Given the description of an element on the screen output the (x, y) to click on. 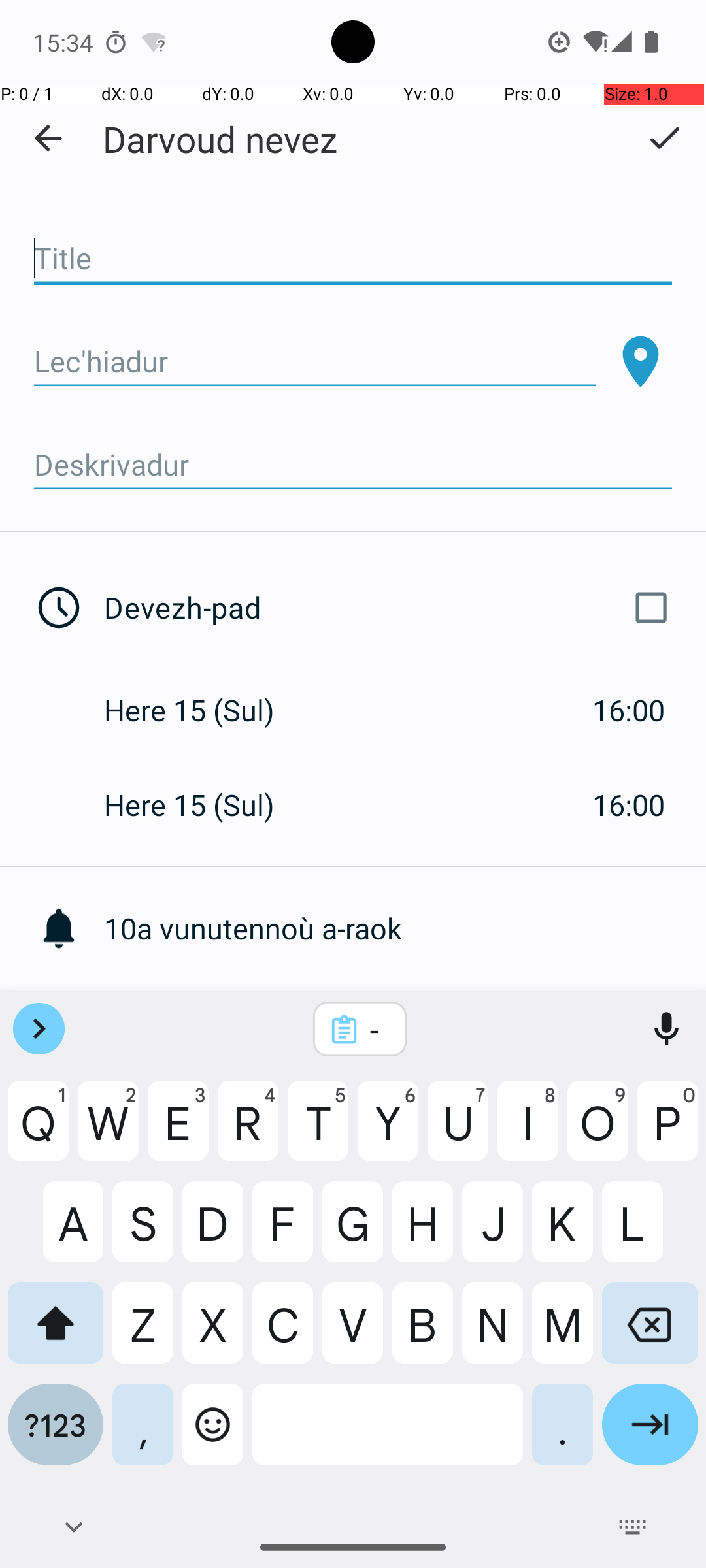
Darvoud nevez Element type: android.widget.TextView (219, 138)
Lec'hiadur Element type: android.widget.EditText (314, 361)
Deskrivadur Element type: android.widget.EditText (352, 465)
Here 15 (Sul) Element type: android.widget.TextView (202, 709)
10a vunutennoù a-raok Element type: android.widget.TextView (404, 927)
Ouzhpennañ un adc'halv all Element type: android.widget.TextView (404, 1022)
Devezh-pad Element type: android.widget.CheckBox (390, 607)
